Given the description of an element on the screen output the (x, y) to click on. 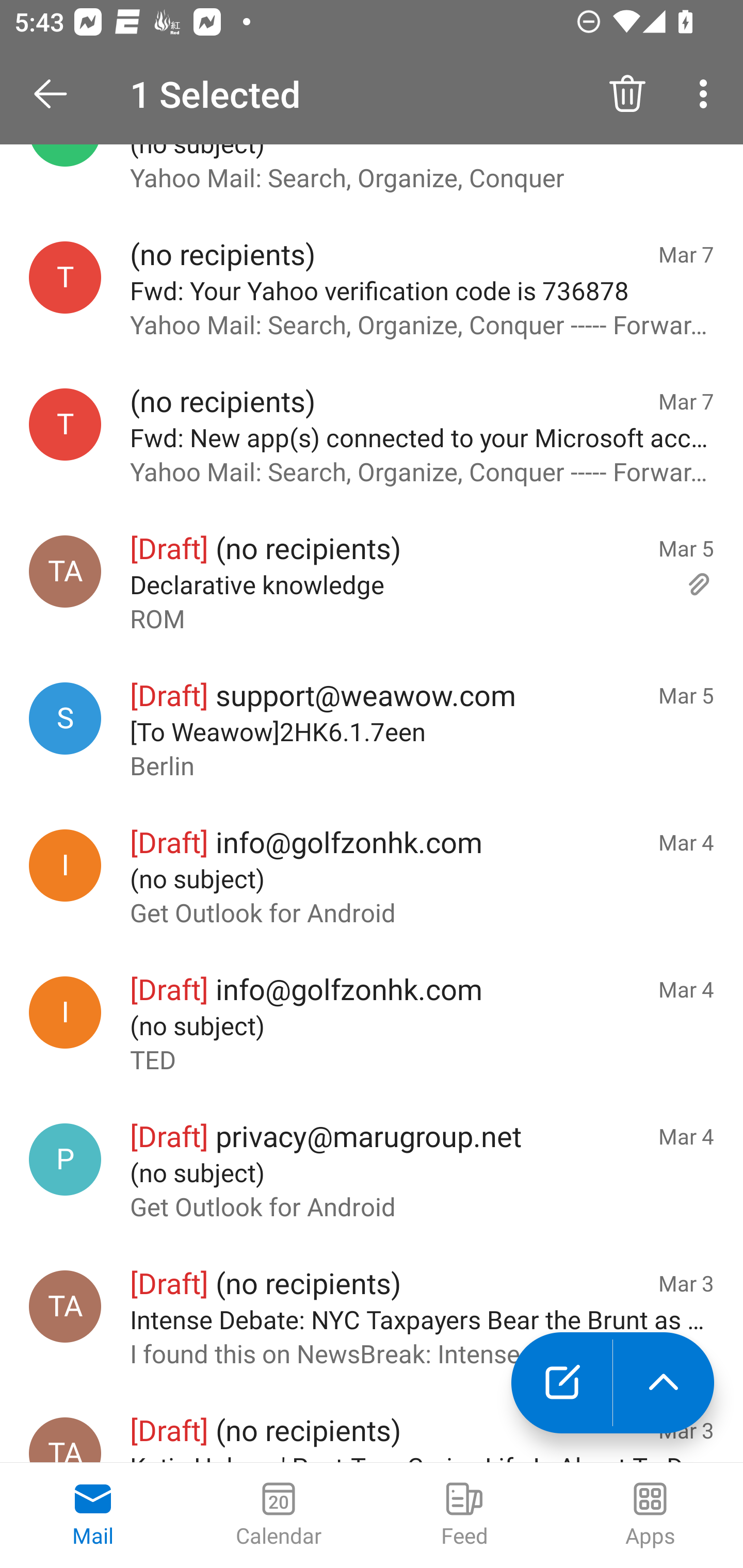
Delete (626, 93)
More options (706, 93)
Open Navigation Drawer (57, 94)
testappium002@outlook.com (64, 277)
testappium002@outlook.com (64, 424)
Test Appium, testappium002@outlook.com (64, 571)
support@weawow.com (64, 718)
info@golfzonhk.com (64, 865)
info@golfzonhk.com (64, 1012)
privacy@marugroup.net (64, 1158)
Test Appium, testappium002@outlook.com (64, 1306)
New mail (561, 1382)
launch the extended action menu (663, 1382)
Test Appium, testappium002@outlook.com (64, 1439)
Calendar (278, 1515)
Feed (464, 1515)
Apps (650, 1515)
